Given the description of an element on the screen output the (x, y) to click on. 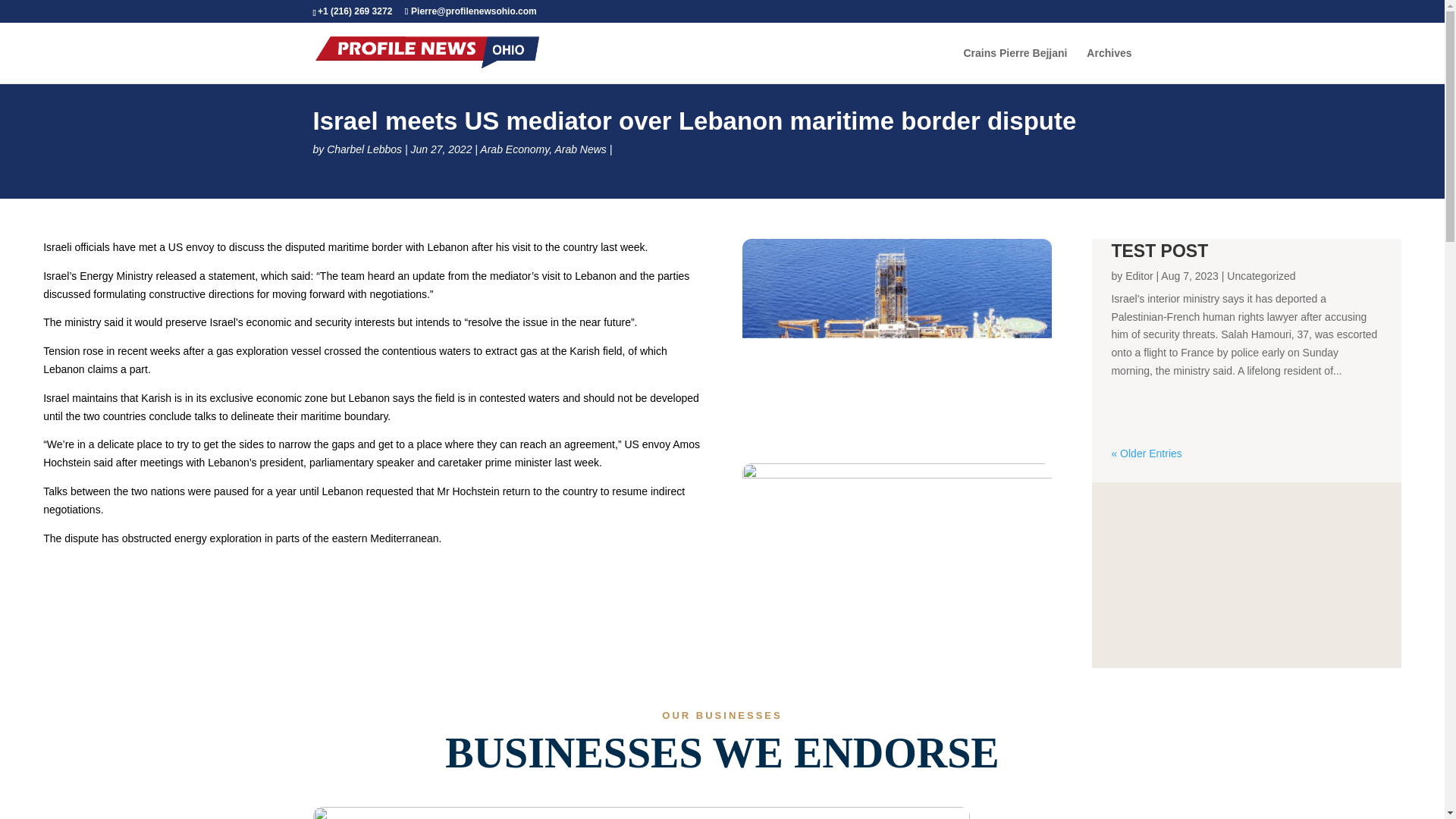
Arab Economy (514, 149)
Screenshot 2022-06-27 100508 (896, 565)
7 (641, 812)
Crains Pierre Bejjani (1014, 65)
Uncategorized (1261, 275)
Editor (1139, 275)
Charbel Lebbos (363, 149)
Arab News (579, 149)
Posts by Charbel Lebbos (363, 149)
TEST POST (1159, 250)
